Given the description of an element on the screen output the (x, y) to click on. 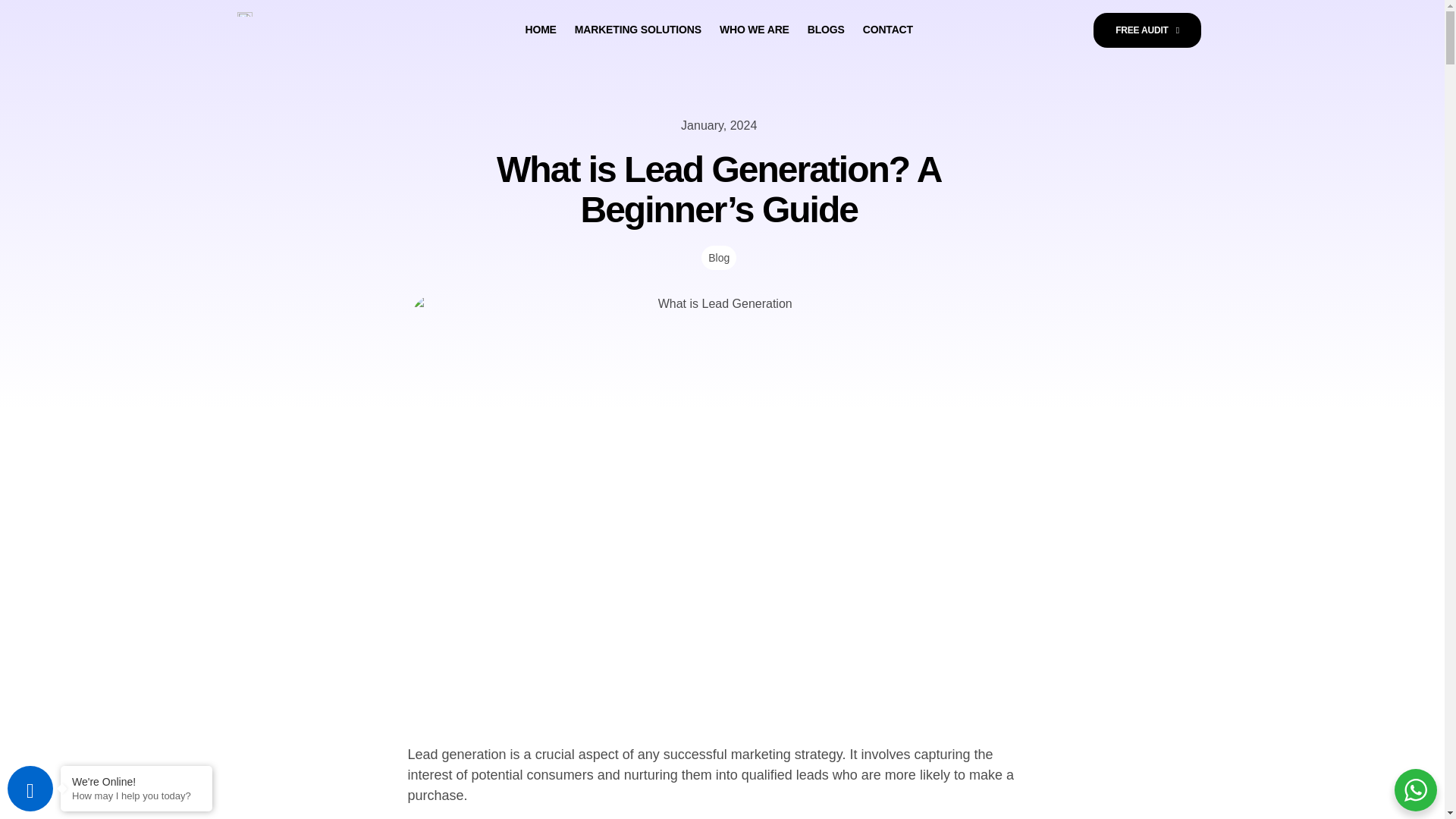
How may I help you today? (135, 795)
We're Online! (718, 30)
